Given the description of an element on the screen output the (x, y) to click on. 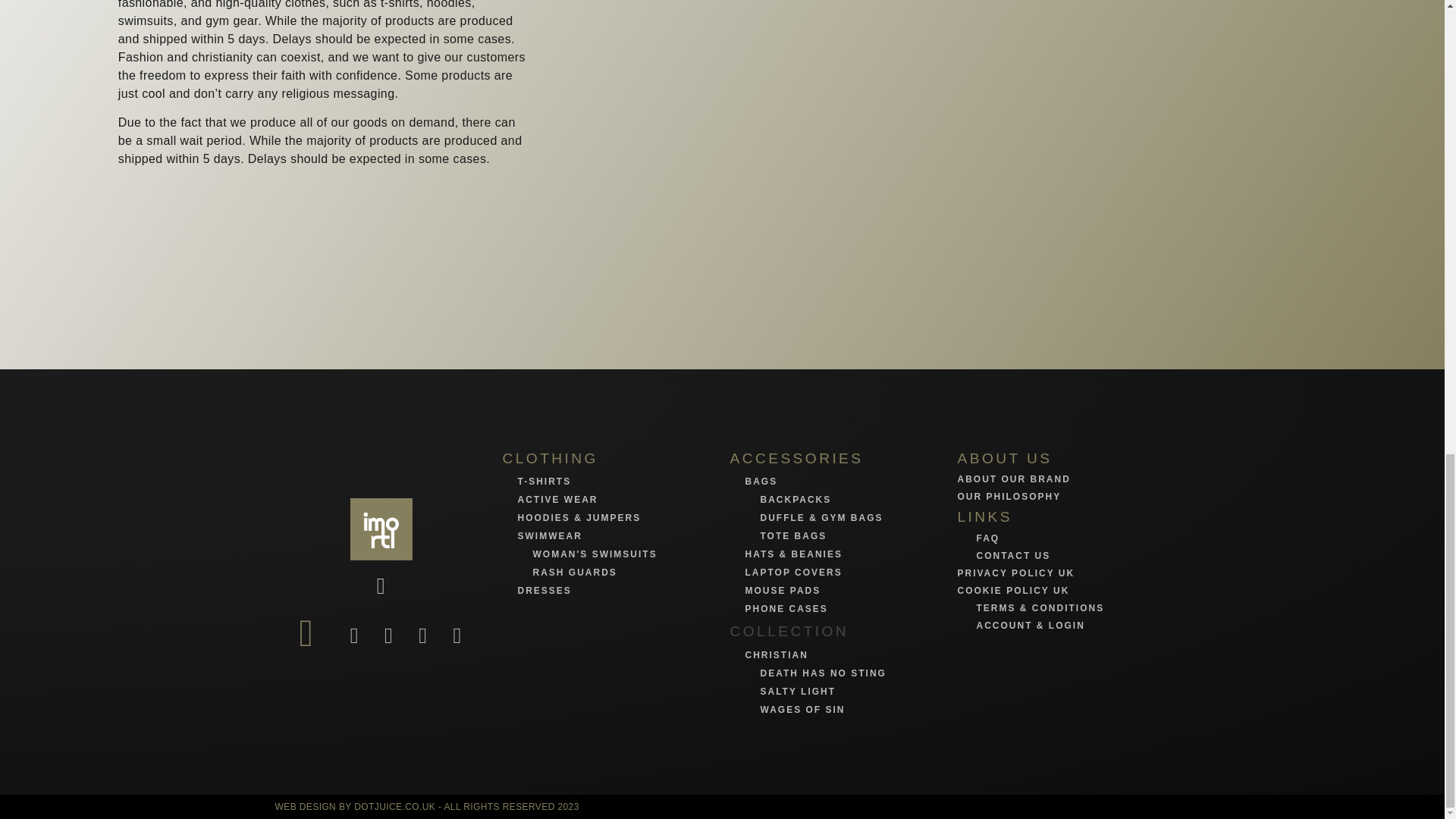
SWIMWEAR (548, 535)
ACTIVE WEAR (556, 499)
T-SHIRTS (543, 480)
